Given the description of an element on the screen output the (x, y) to click on. 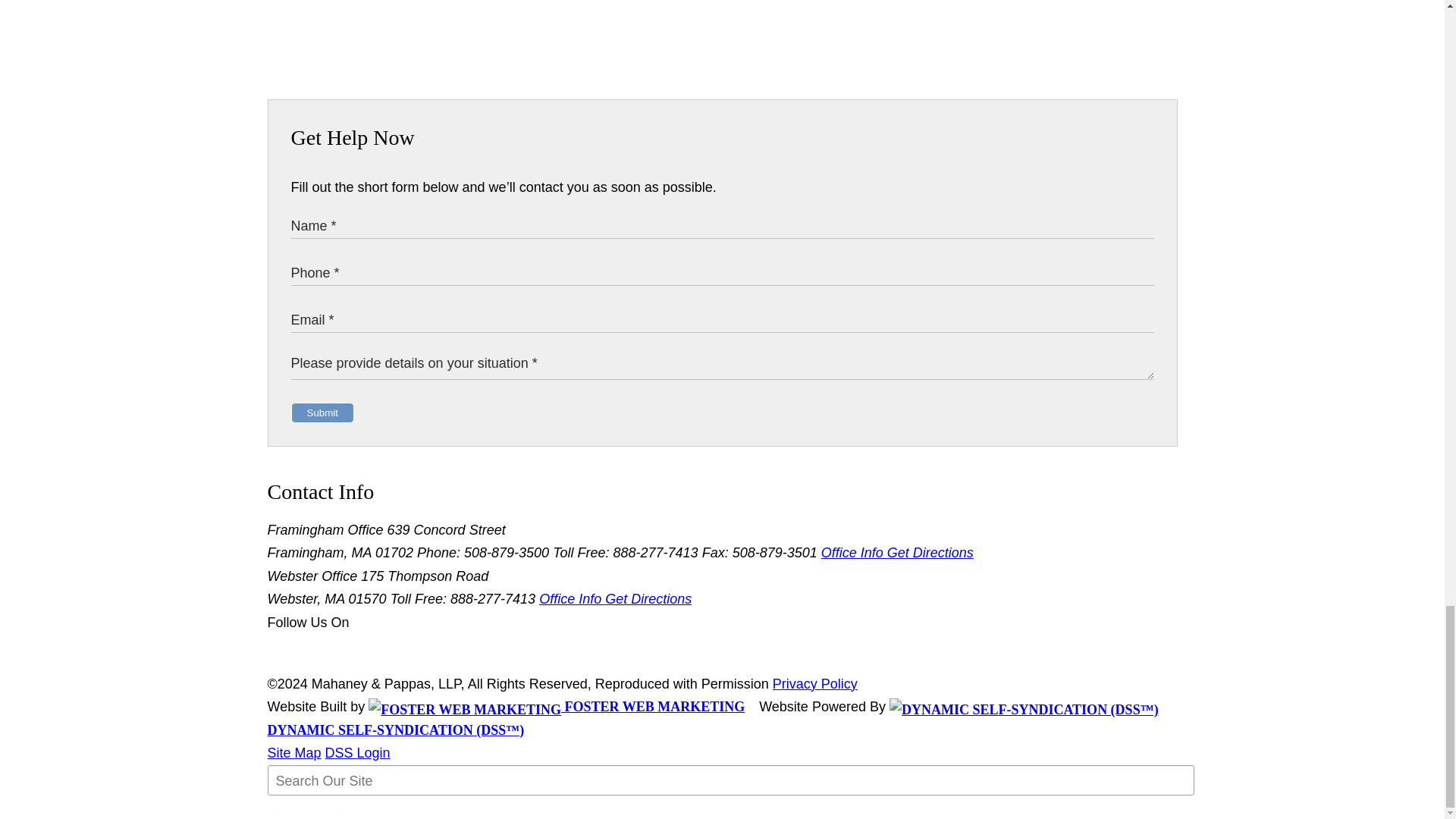
Search (304, 811)
